Given the description of an element on the screen output the (x, y) to click on. 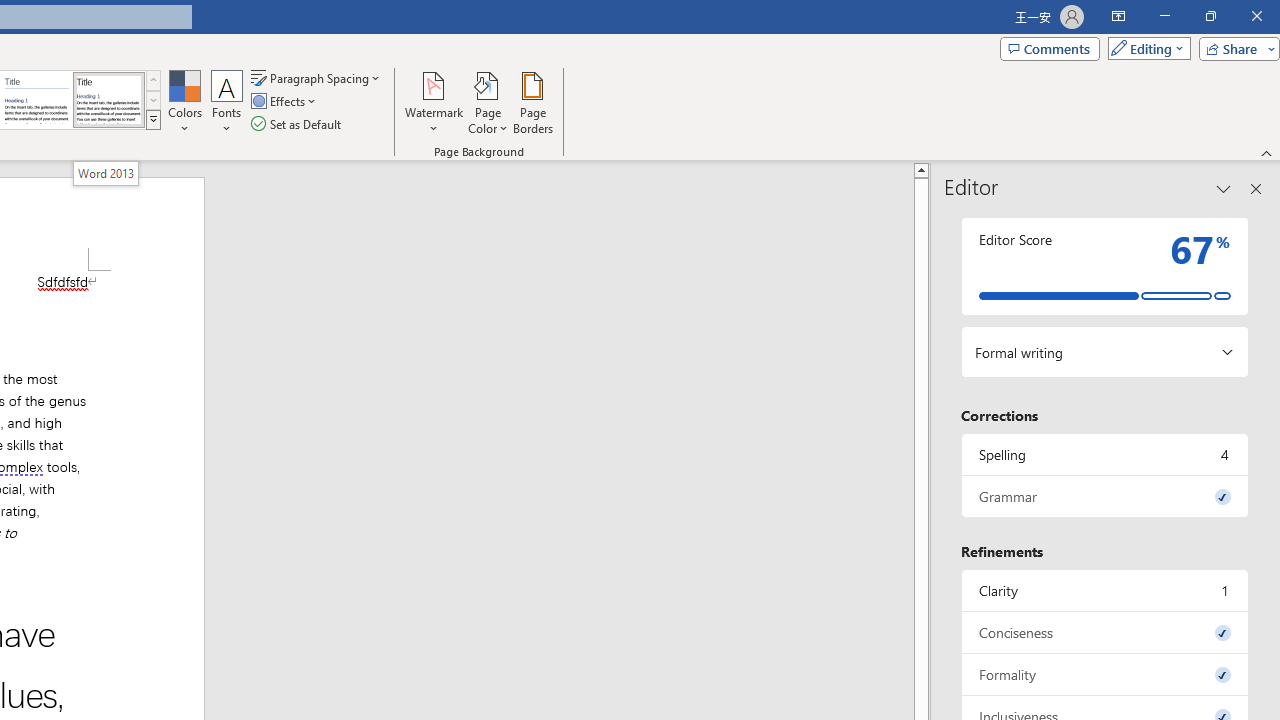
Editor Score 67% (1105, 266)
Row Down (153, 100)
Editing (1144, 47)
